Given the description of an element on the screen output the (x, y) to click on. 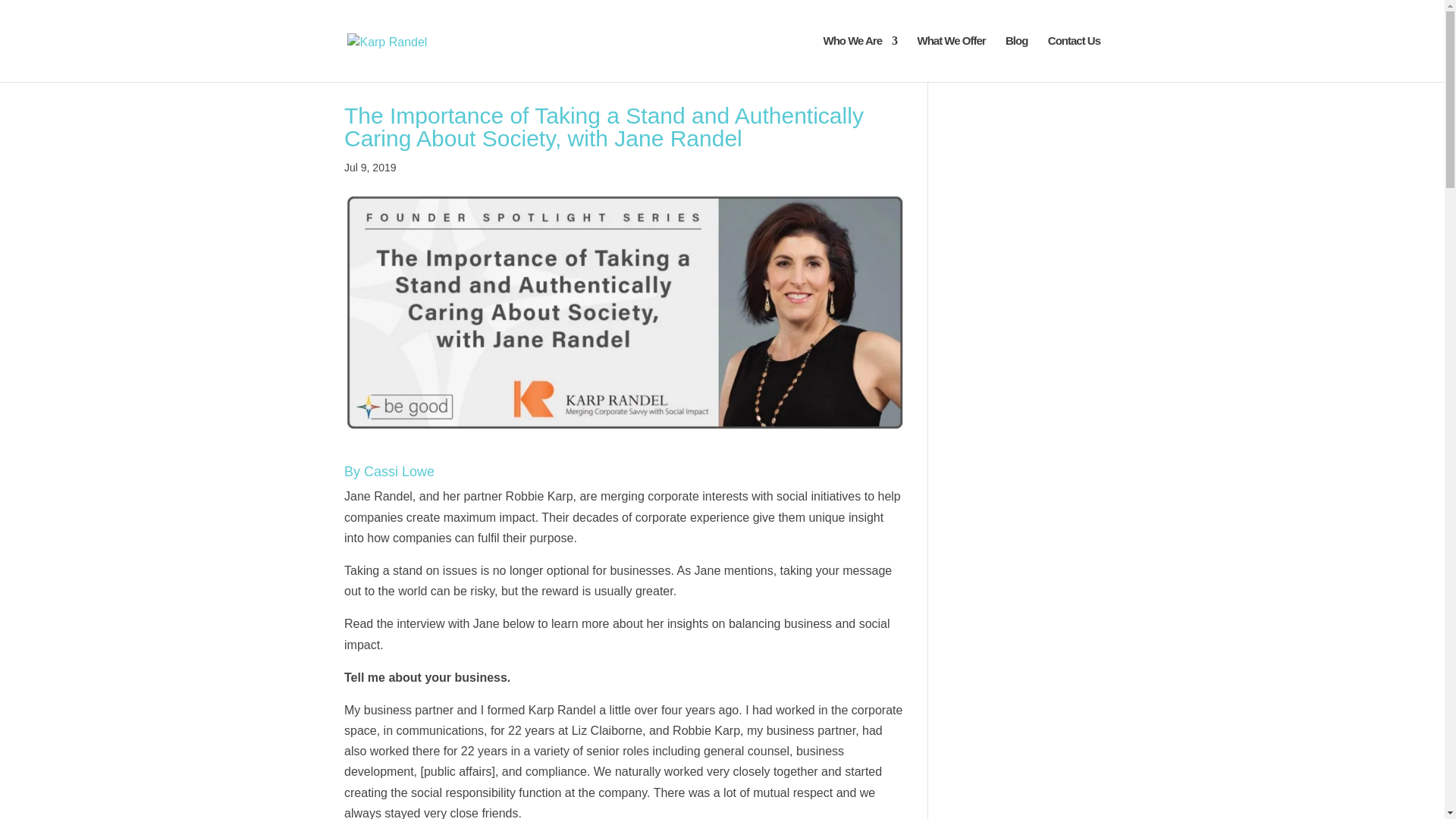
Cassi Lowe (398, 471)
Contact Us (1074, 58)
What We Offer (951, 58)
Who We Are (861, 58)
